Given the description of an element on the screen output the (x, y) to click on. 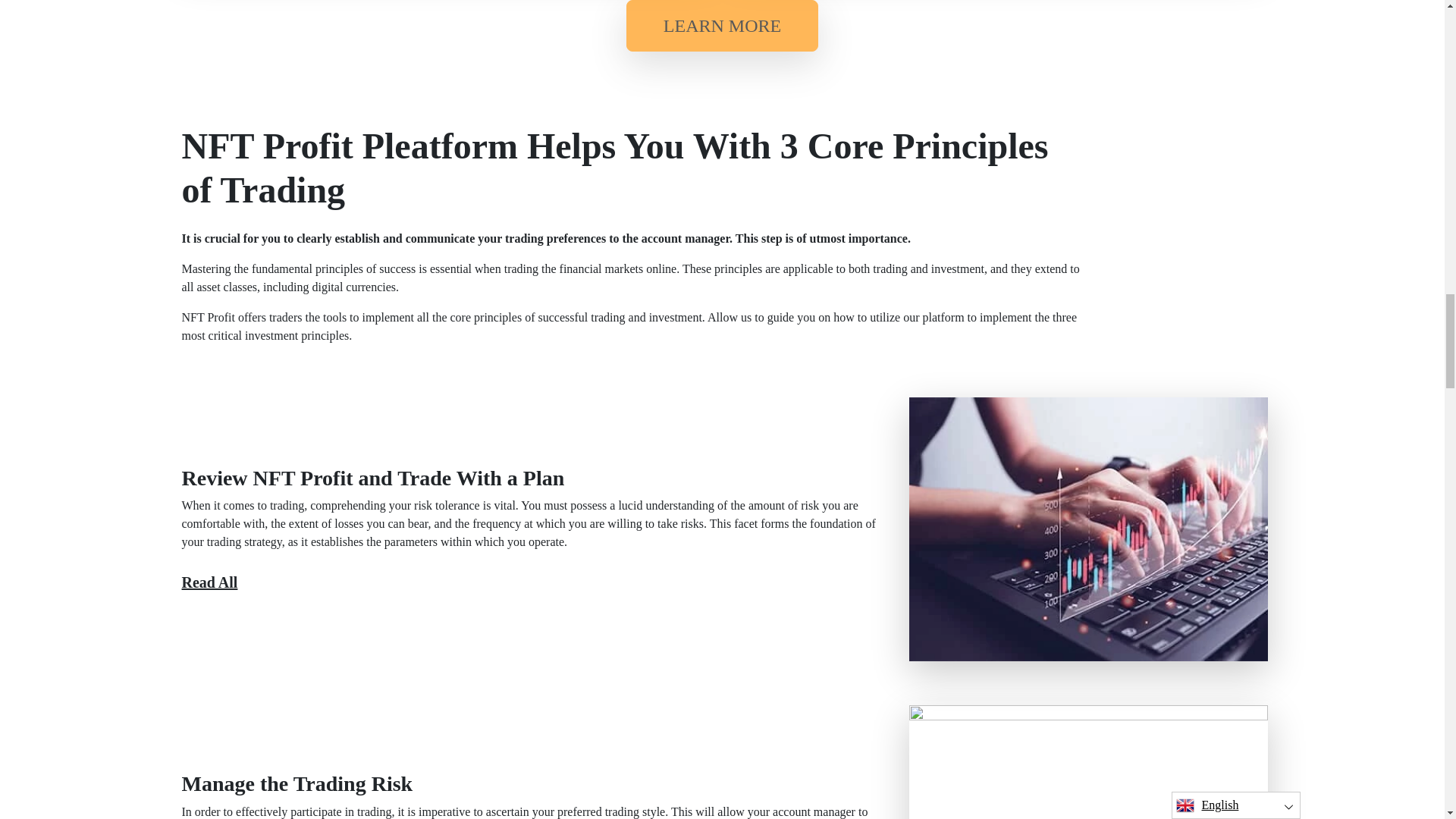
LEARN MORE (722, 25)
